Given the description of an element on the screen output the (x, y) to click on. 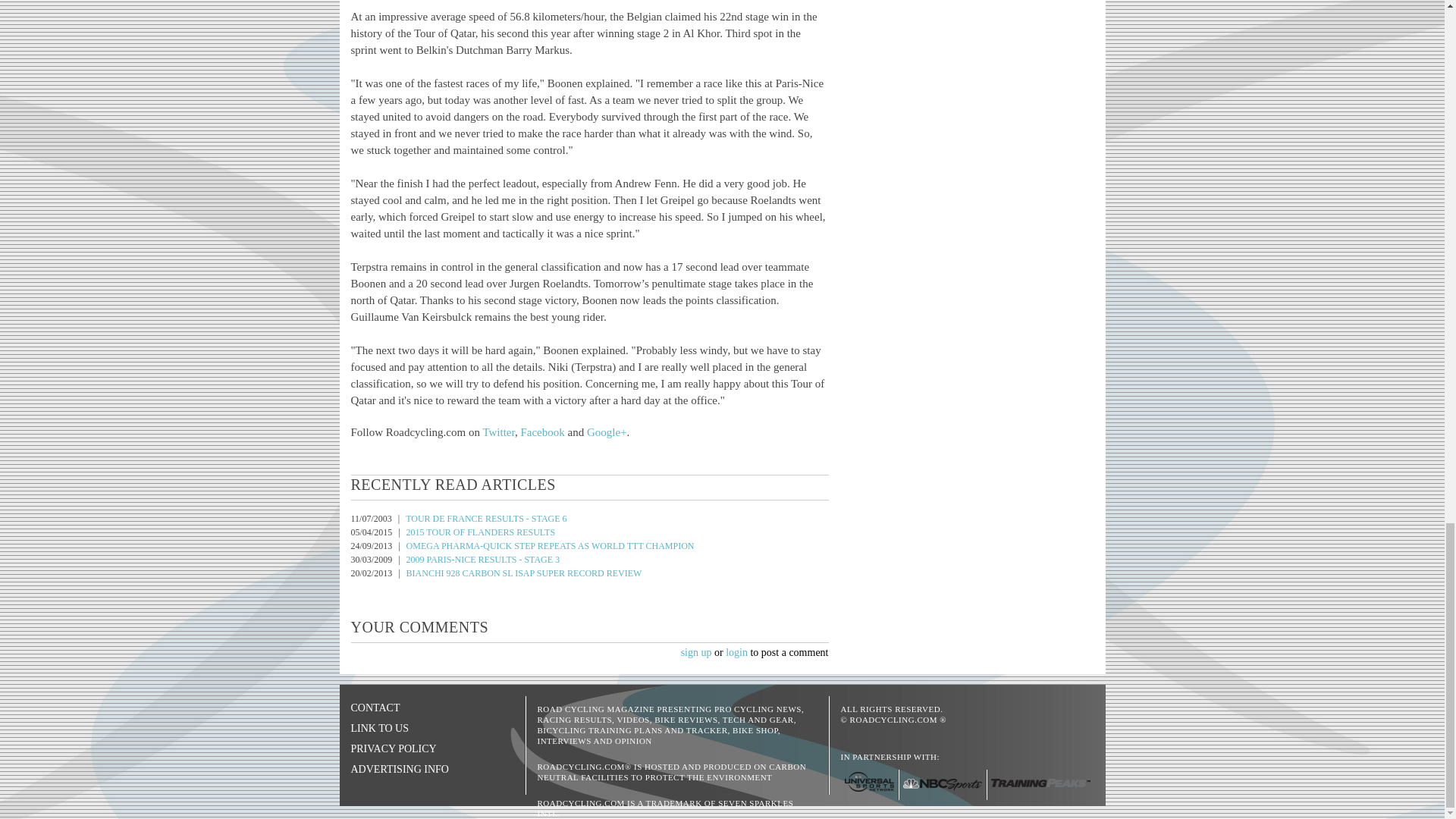
login (736, 652)
sign up (696, 652)
BIANCHI 928 CARBON SL ISAP SUPER RECORD REVIEW (524, 573)
Twitter (498, 431)
OMEGA PHARMA-QUICK STEP REPEATS AS WORLD TTT CHAMPION (550, 545)
Facebook (541, 431)
2009 PARIS-NICE RESULTS - STAGE 3 (483, 559)
TOUR DE FRANCE RESULTS - STAGE 6 (486, 518)
2015 TOUR OF FLANDERS RESULTS (481, 532)
